Given the description of an element on the screen output the (x, y) to click on. 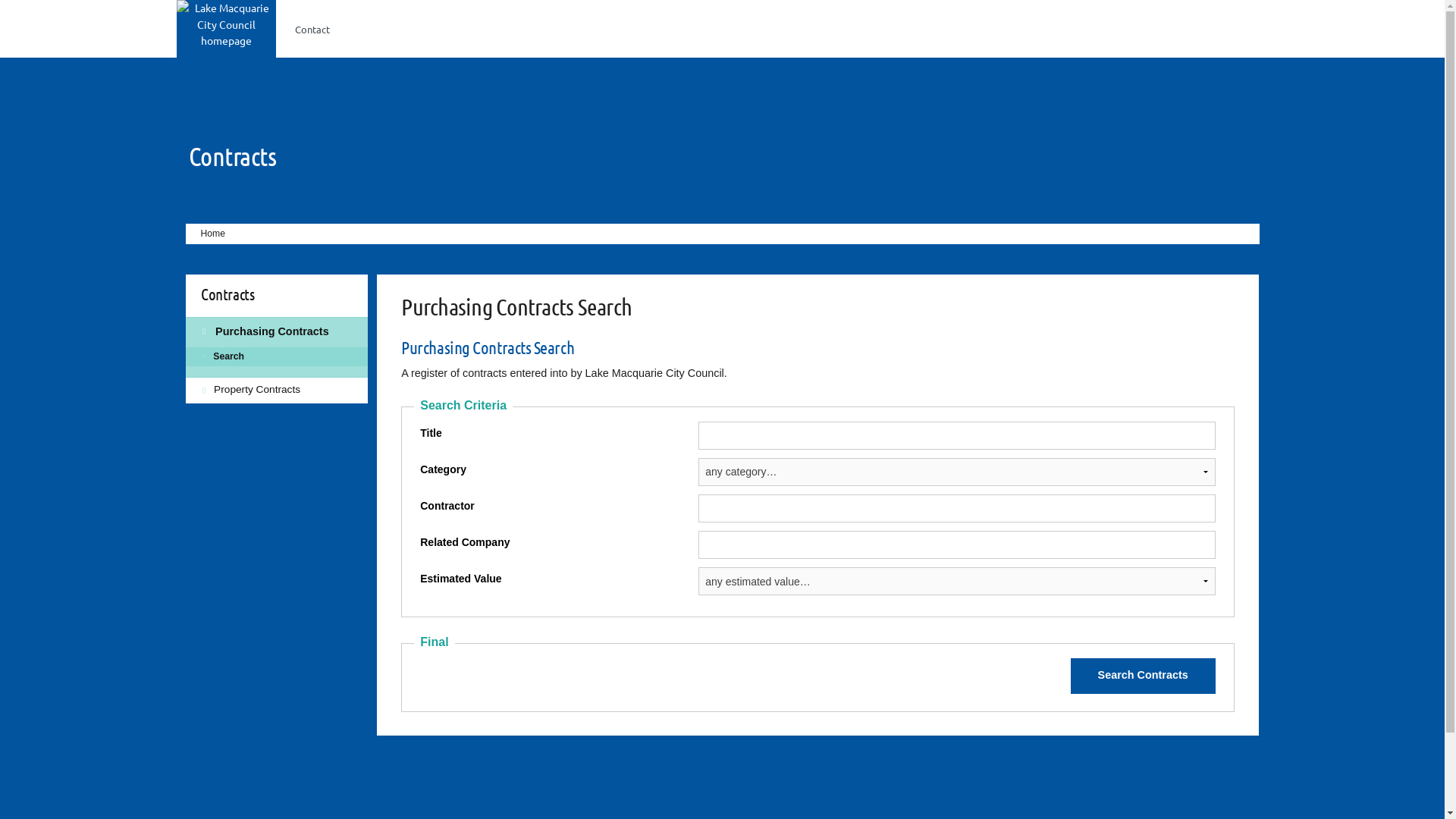
Go to homepage Element type: hover (225, 22)
Search Contracts Element type: text (1142, 675)
Search Element type: text (276, 357)
Purchasing Contracts Element type: text (276, 332)
Property Contracts Element type: text (276, 389)
Contracts Element type: text (232, 155)
Contact Element type: text (311, 28)
Home Element type: text (207, 233)
